Given the description of an element on the screen output the (x, y) to click on. 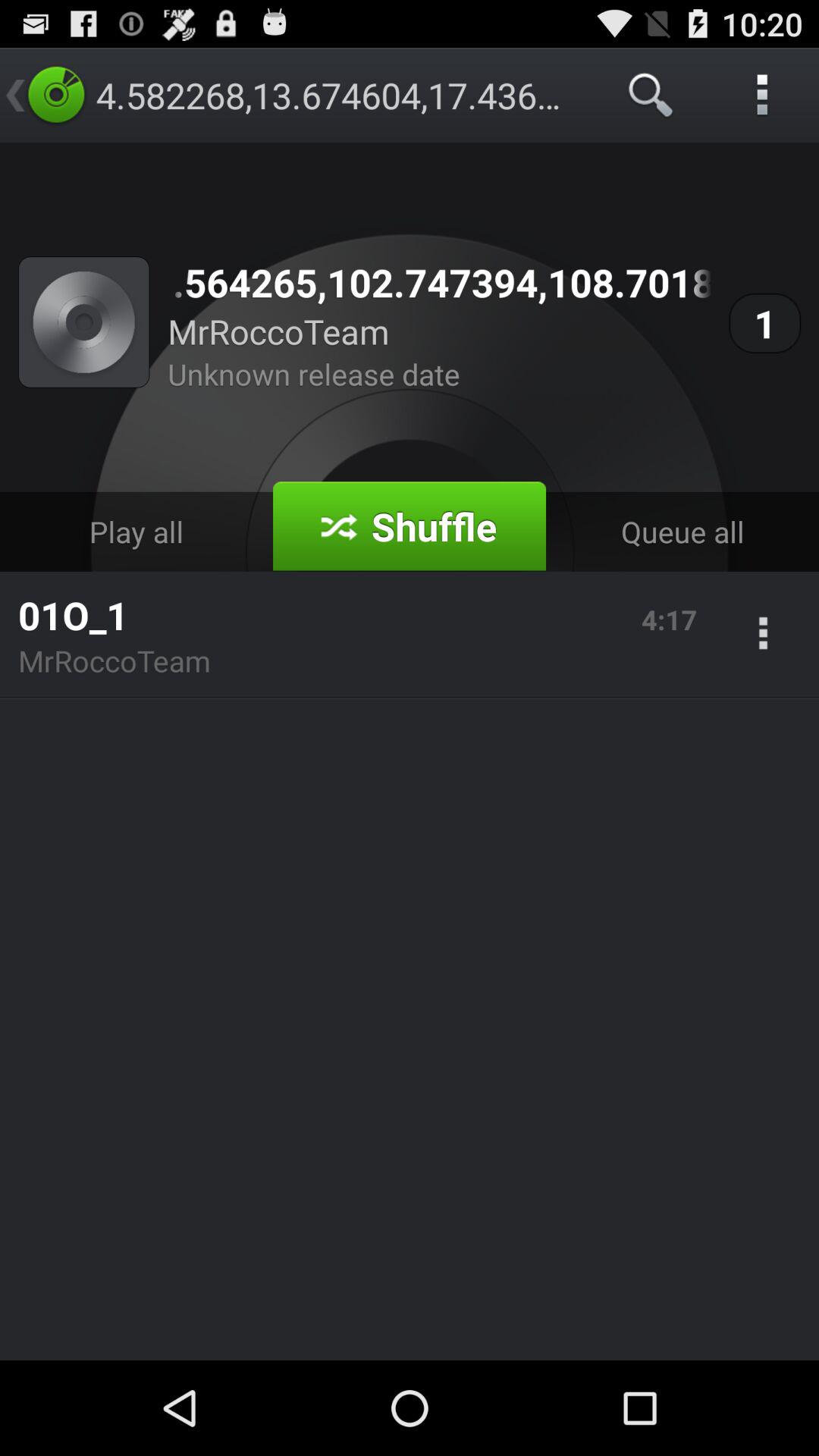
change the settings (763, 634)
